Given the description of an element on the screen output the (x, y) to click on. 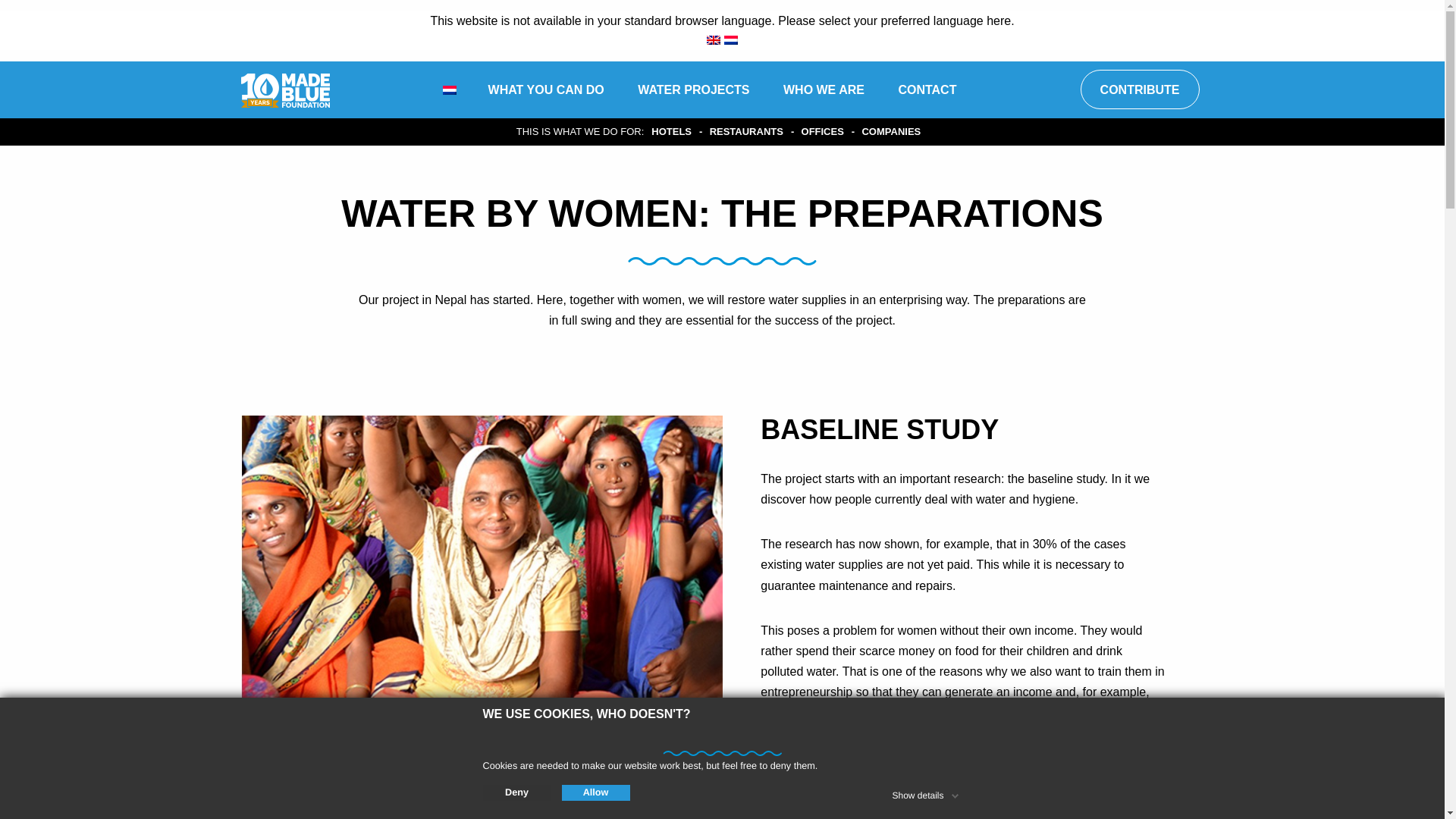
Allow (594, 792)
Show details (925, 792)
Deny (515, 792)
